Given the description of an element on the screen output the (x, y) to click on. 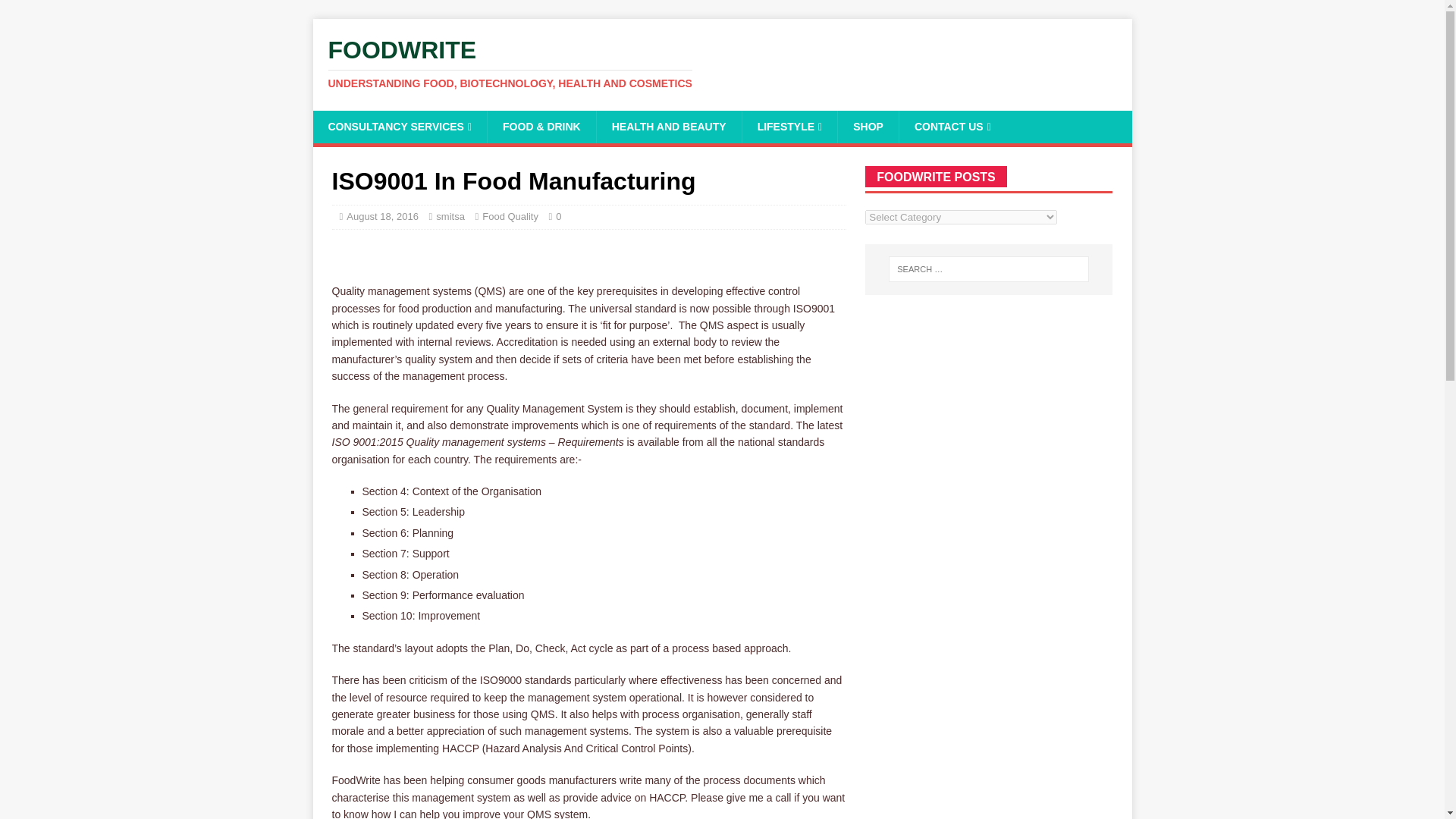
CONTACT US (952, 126)
LIFESTYLE (789, 126)
August 18, 2016 (382, 215)
0 (558, 215)
HEALTH AND BEAUTY (668, 126)
Food Quality (509, 215)
0 (558, 215)
SHOP (867, 126)
smitsa (449, 215)
FoodWrite (721, 63)
CONSULTANCY SERVICES (399, 126)
